Given the description of an element on the screen output the (x, y) to click on. 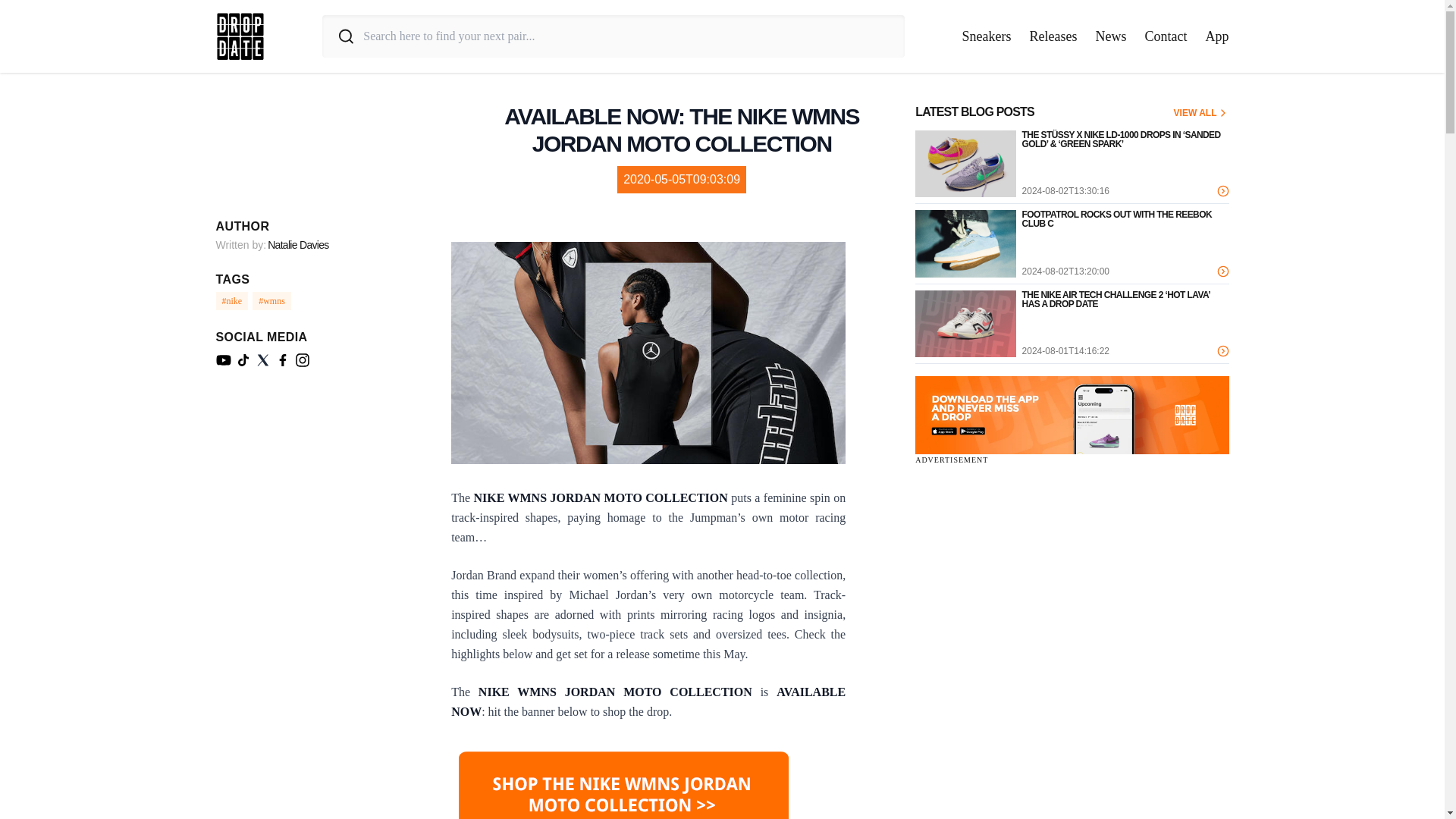
Contact (1166, 36)
Sneakers (986, 36)
News (1109, 36)
App (1216, 36)
VIEW ALL (1200, 112)
Releases (1053, 36)
